Given the description of an element on the screen output the (x, y) to click on. 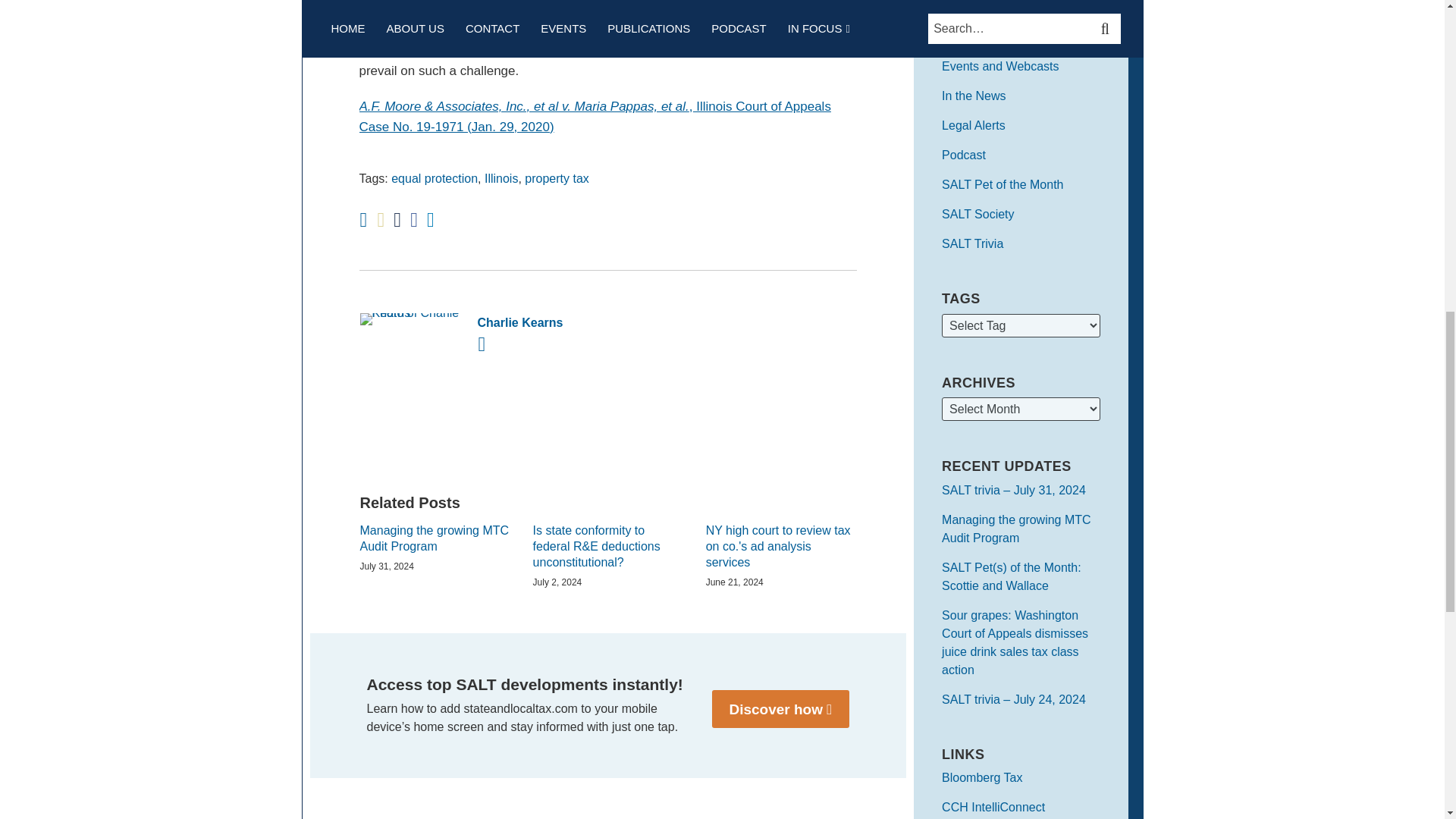
NY high court to review tax on co.'s ad analysis services (781, 546)
equal protection (434, 178)
Managing the growing MTC Audit Program (434, 539)
Charlie Kearns (607, 322)
property tax (556, 178)
Illinois (501, 178)
